Given the description of an element on the screen output the (x, y) to click on. 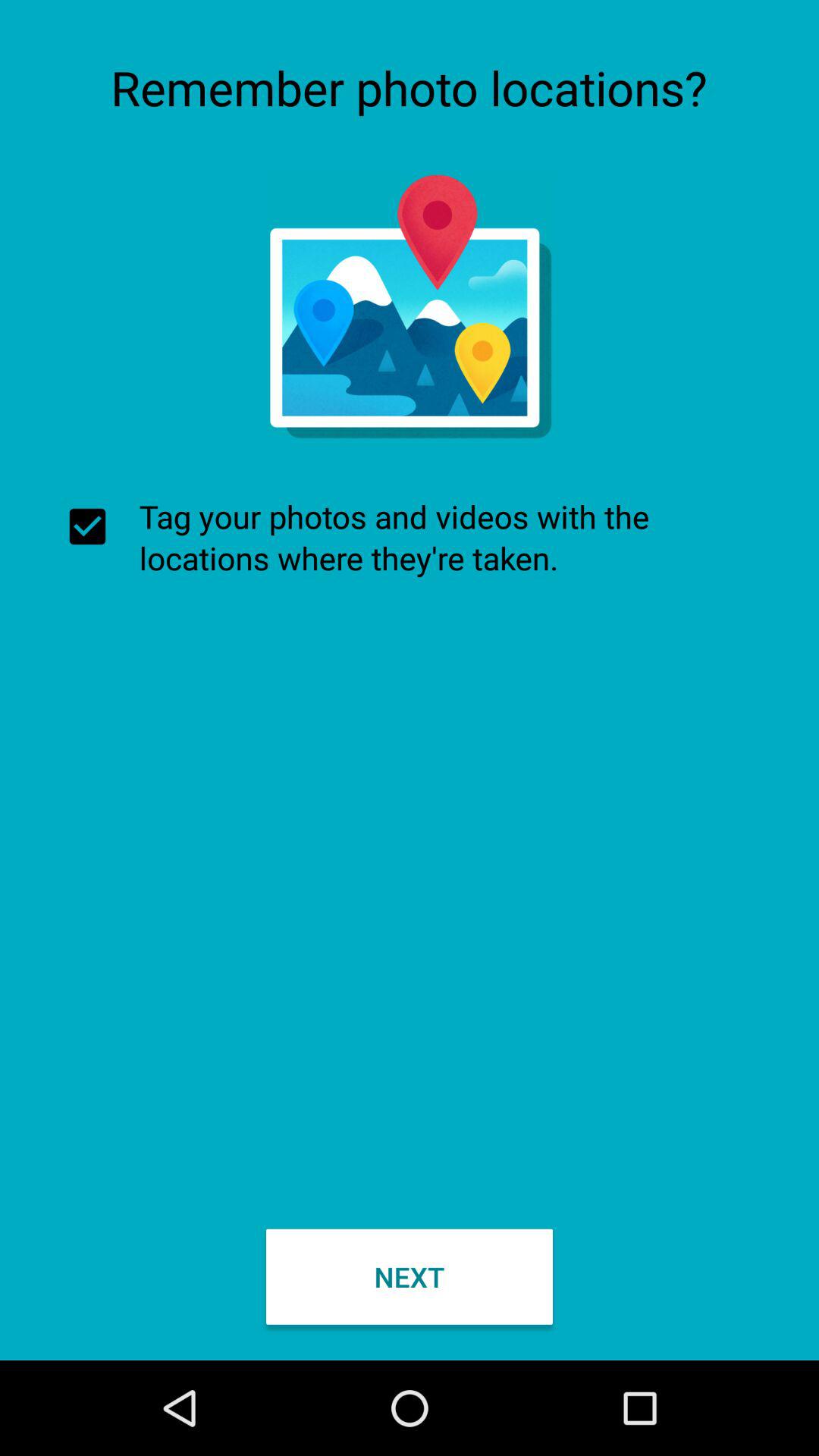
scroll until tag your photos item (409, 536)
